Given the description of an element on the screen output the (x, y) to click on. 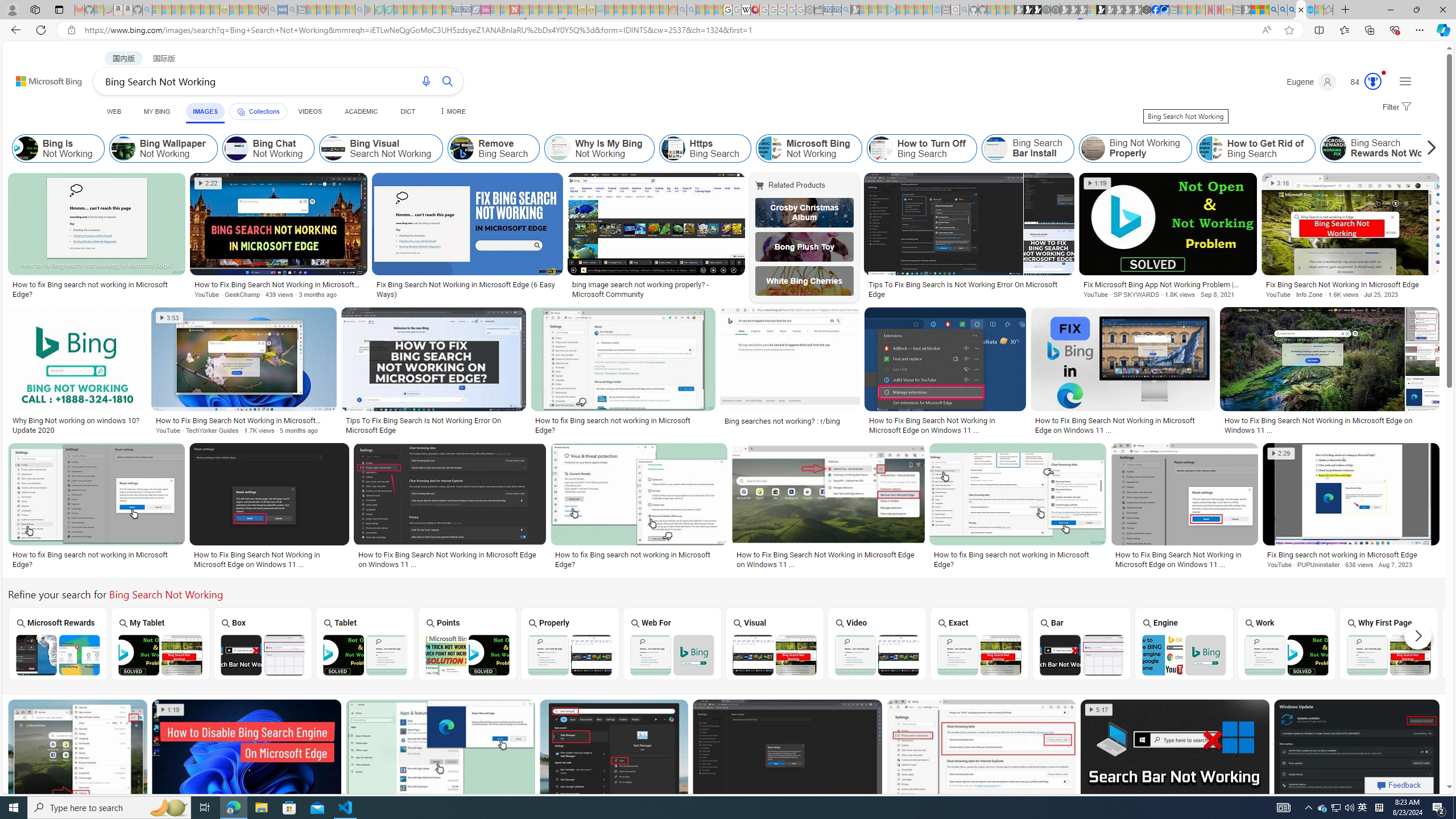
Nordace - Cooler Bags (1146, 9)
Fix Bing Search Not Working In Microsoft Edge (1350, 284)
Target page - Wikipedia (745, 9)
Bing Search Bar Install (1028, 148)
